Given the description of an element on the screen output the (x, y) to click on. 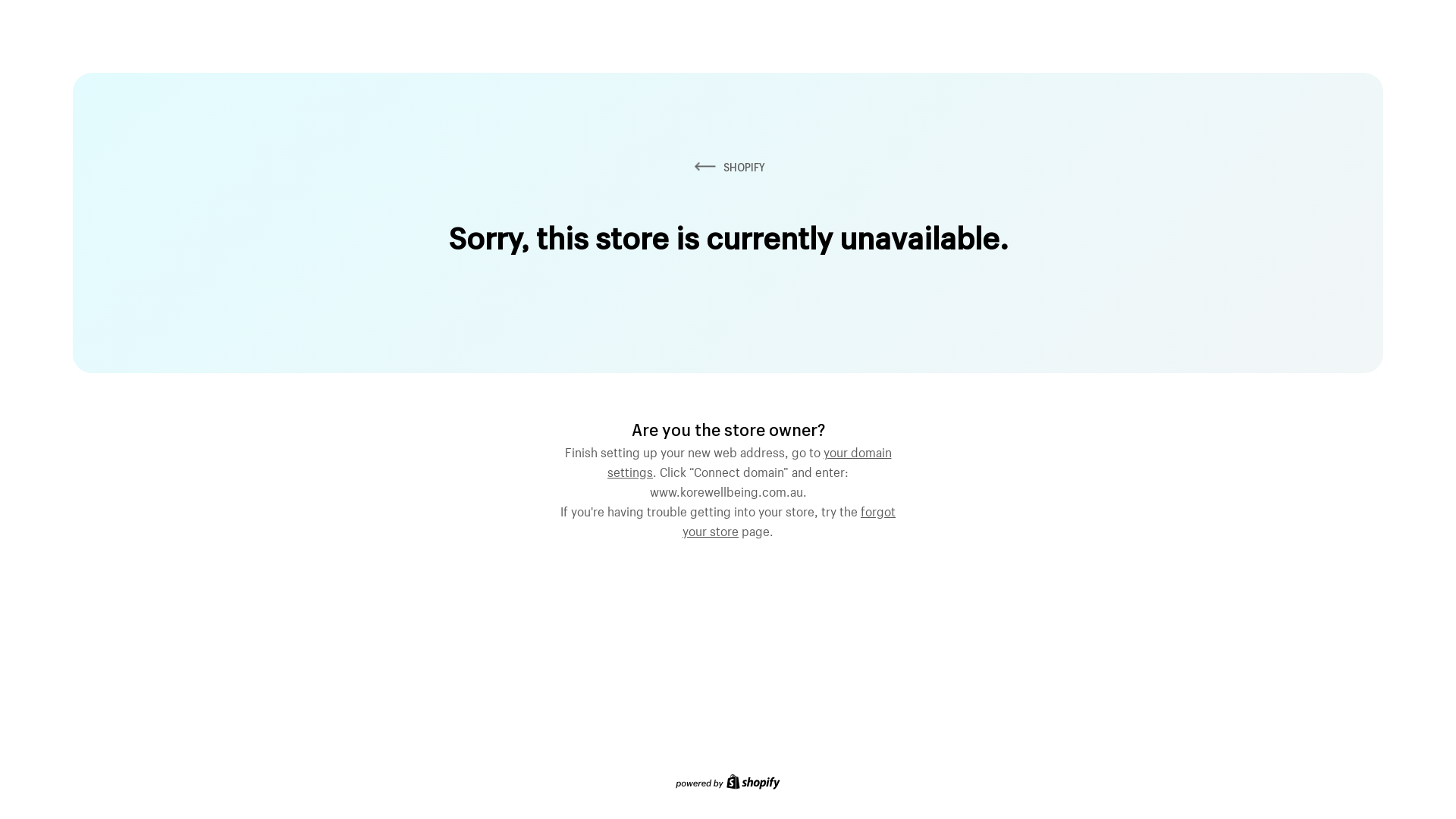
your domain settings Element type: text (749, 460)
forgot your store Element type: text (788, 519)
SHOPIFY Element type: text (727, 167)
